Given the description of an element on the screen output the (x, y) to click on. 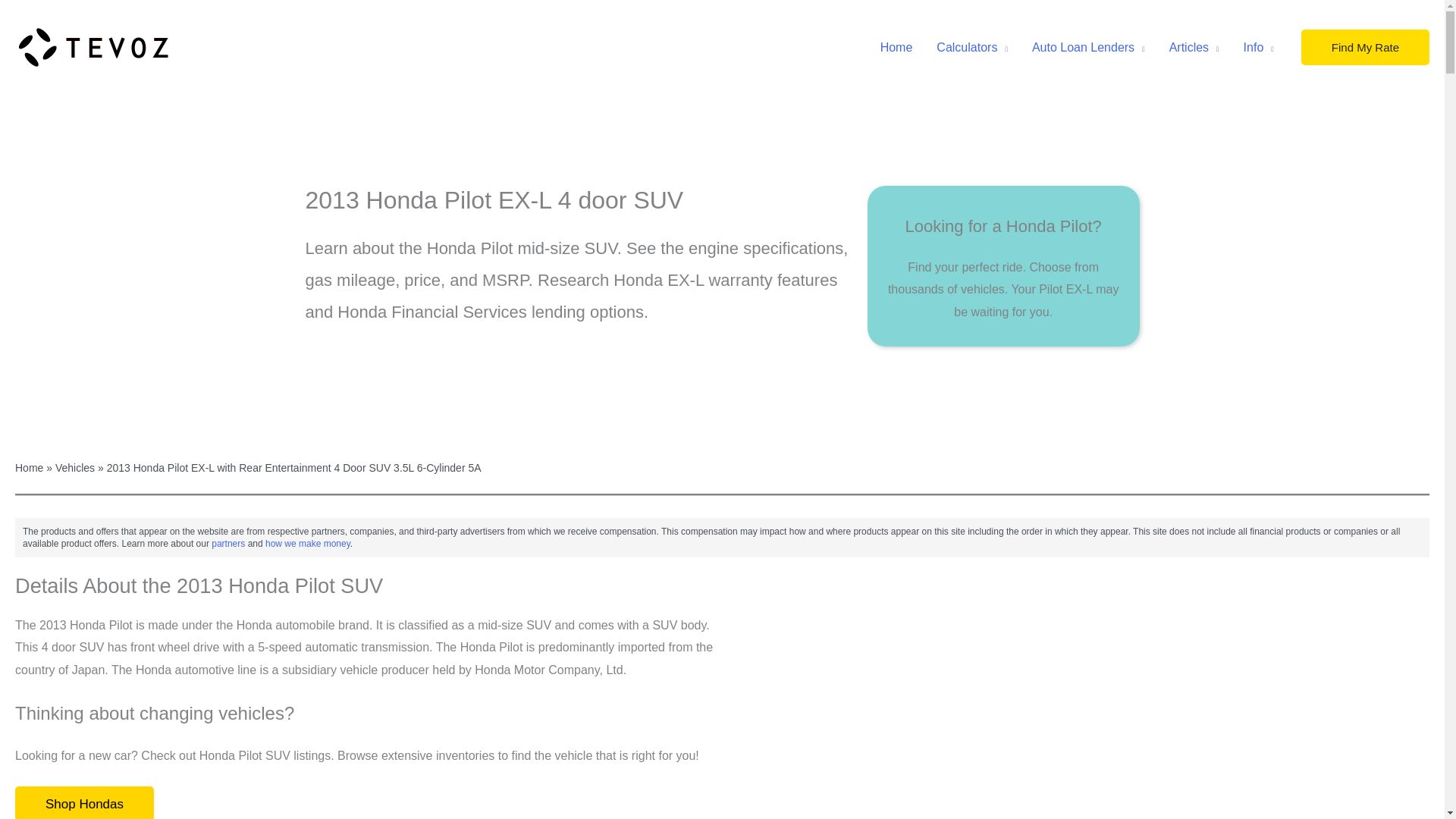
Info (1258, 47)
Calculators (972, 47)
Articles (1194, 47)
Find My Rate (1365, 47)
Home (895, 47)
Auto Loan Lenders (1088, 47)
